Given the description of an element on the screen output the (x, y) to click on. 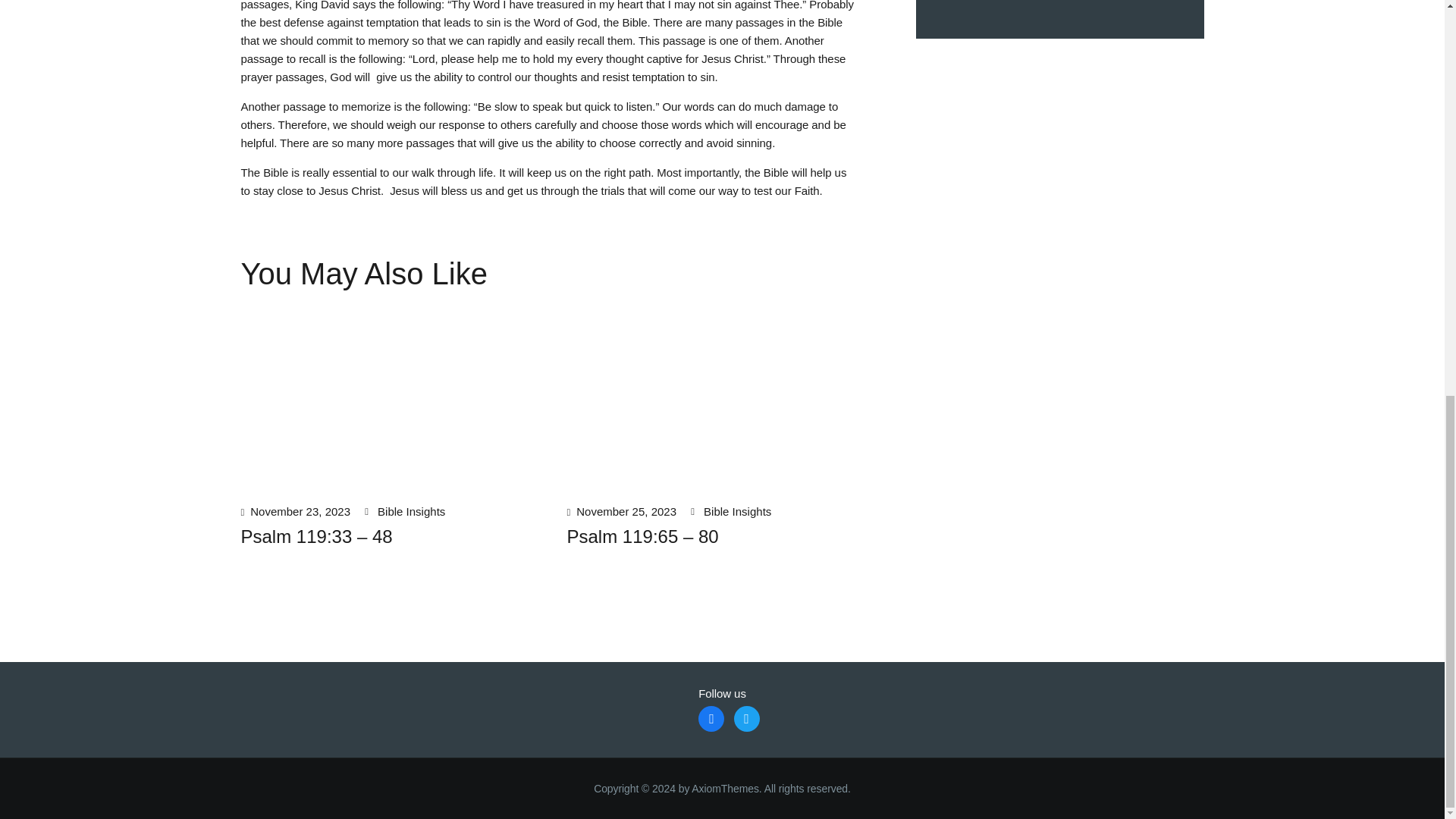
Twitter (746, 717)
Facebook (710, 717)
